Given the description of an element on the screen output the (x, y) to click on. 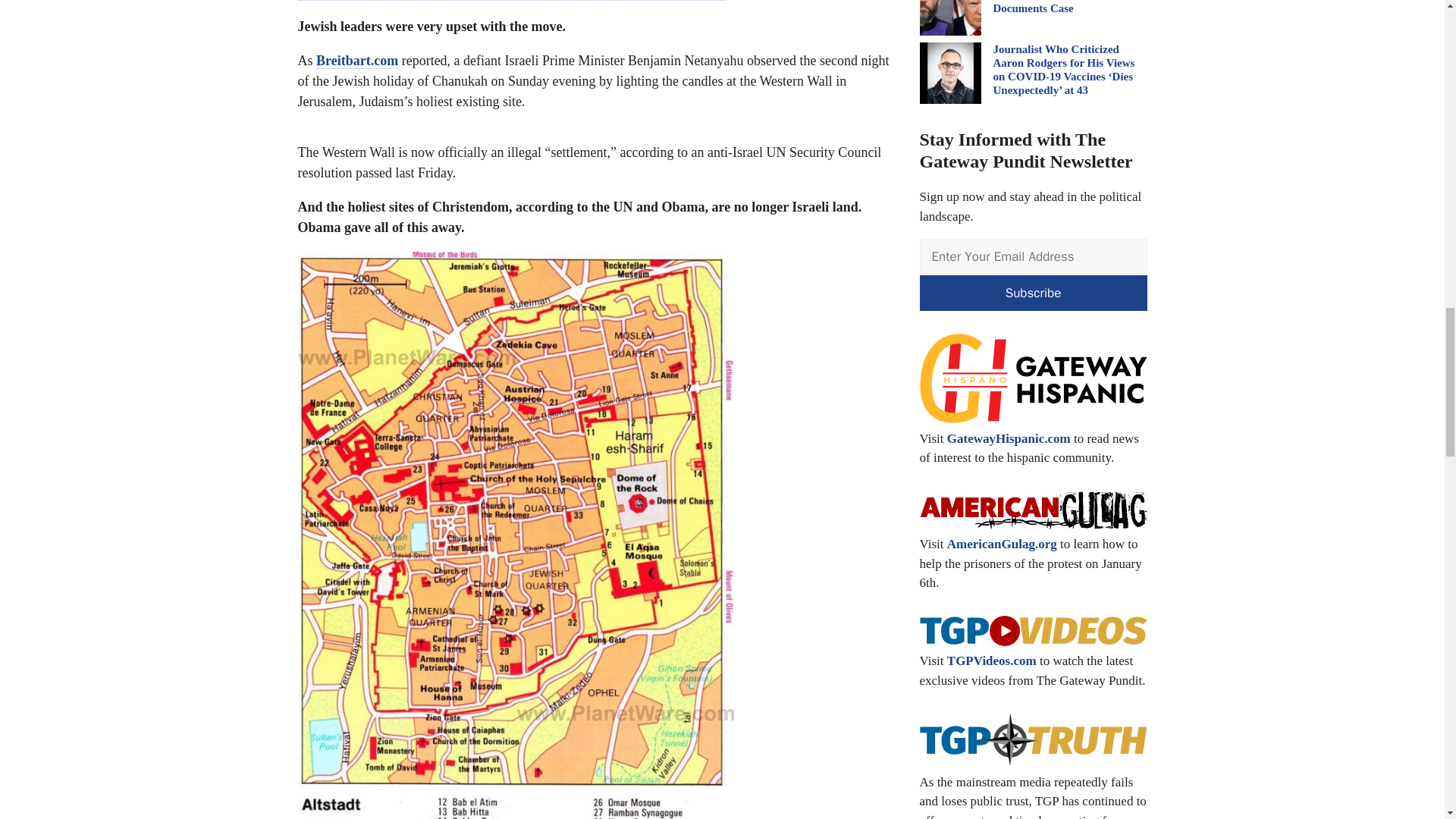
Subscribe (1032, 293)
